Given the description of an element on the screen output the (x, y) to click on. 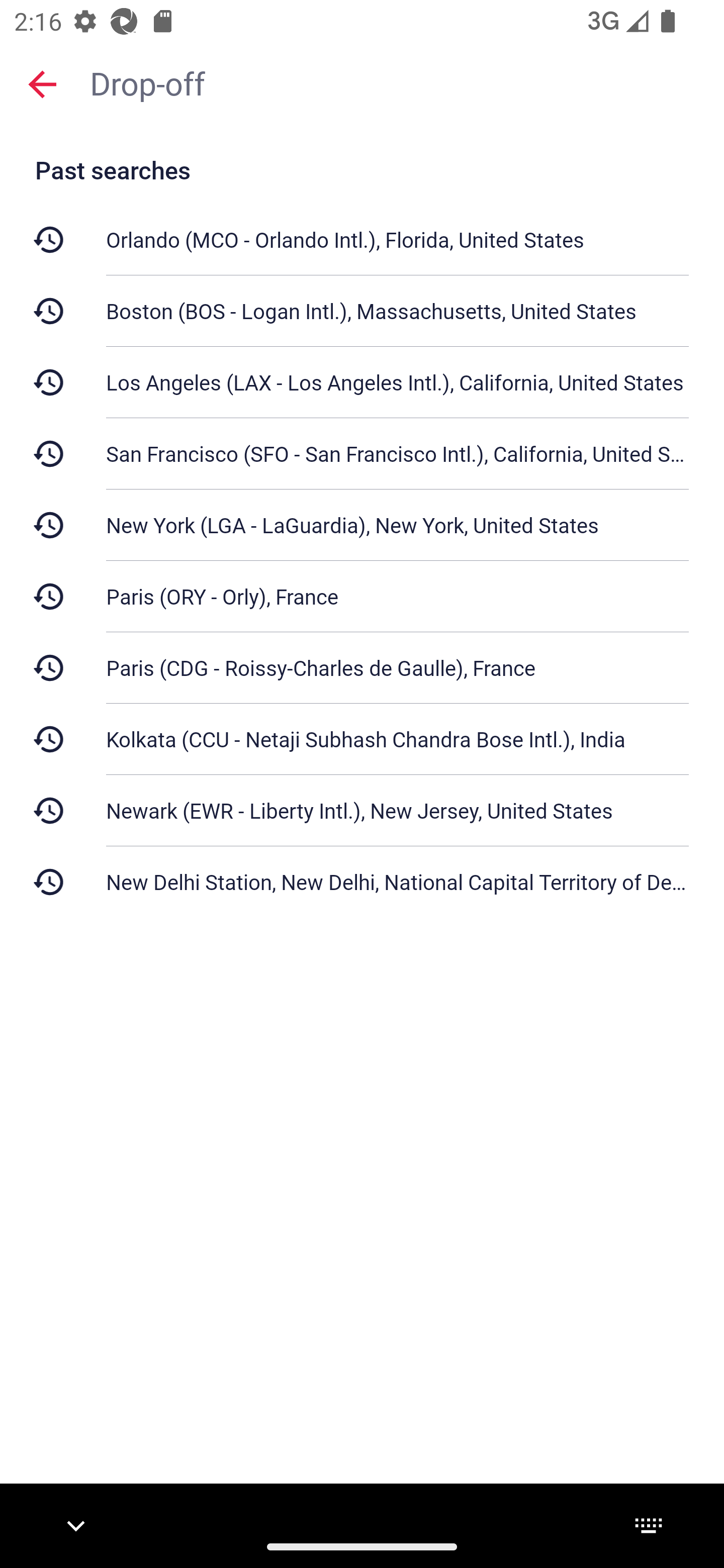
Drop-off,  (397, 82)
Close search screen (41, 83)
